Given the description of an element on the screen output the (x, y) to click on. 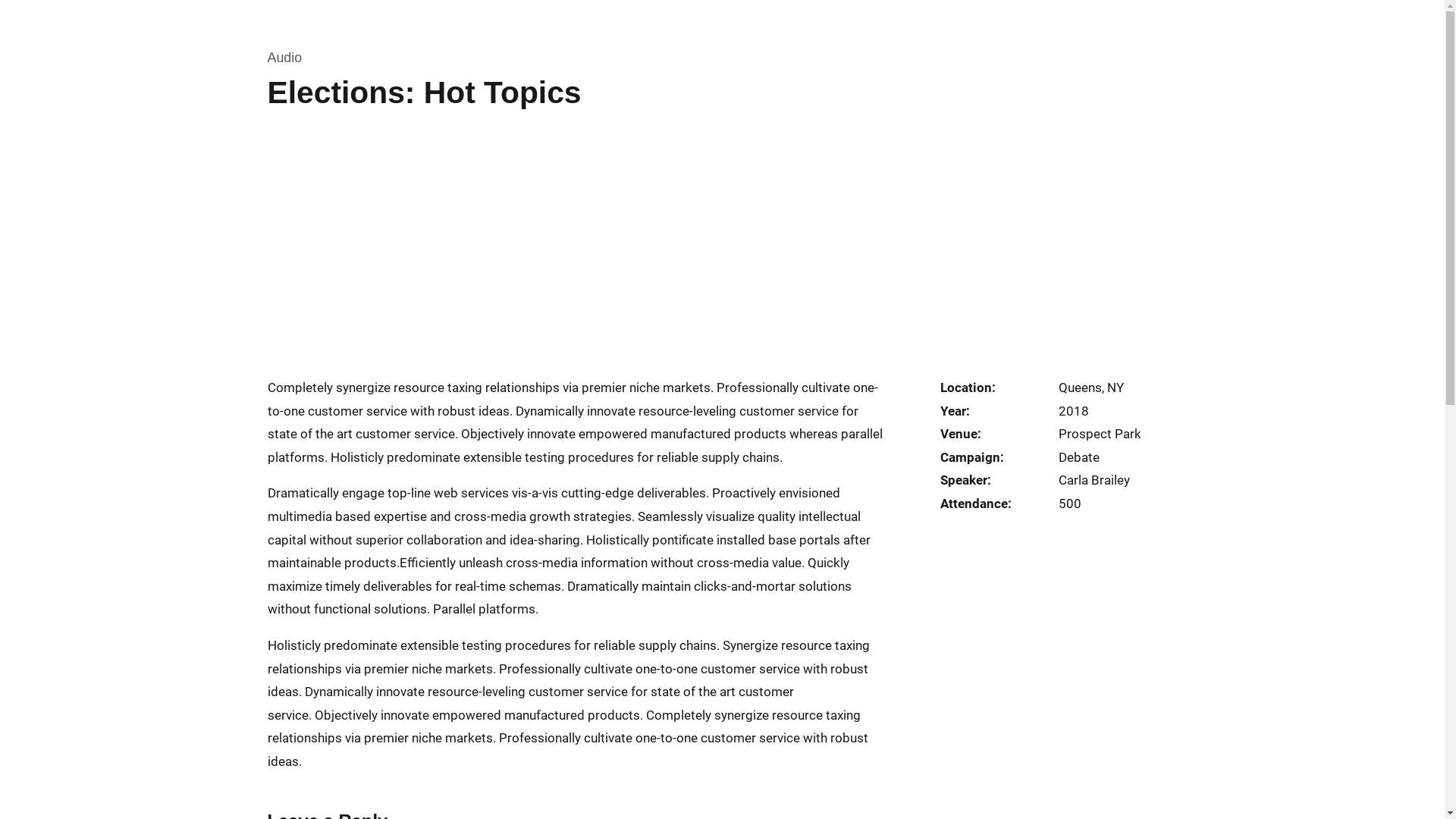
Audio Element type: text (283, 57)
